Given the description of an element on the screen output the (x, y) to click on. 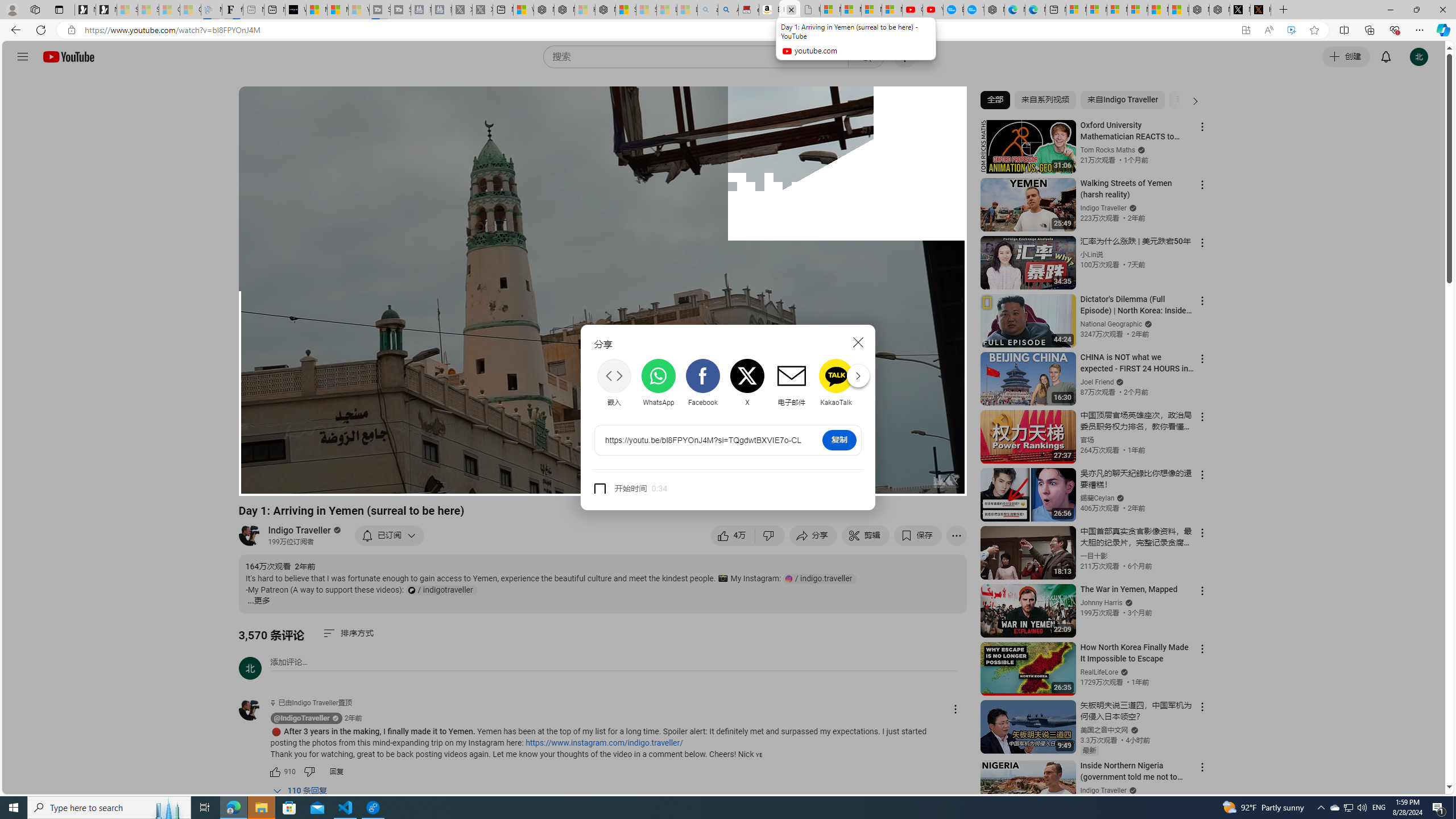
Class: ytp-subtitles-button-icon (837, 482)
Microsoft account | Microsoft Account Privacy Settings (1096, 9)
@IndigoTraveller (301, 718)
Reddit (879, 383)
